Given the description of an element on the screen output the (x, y) to click on. 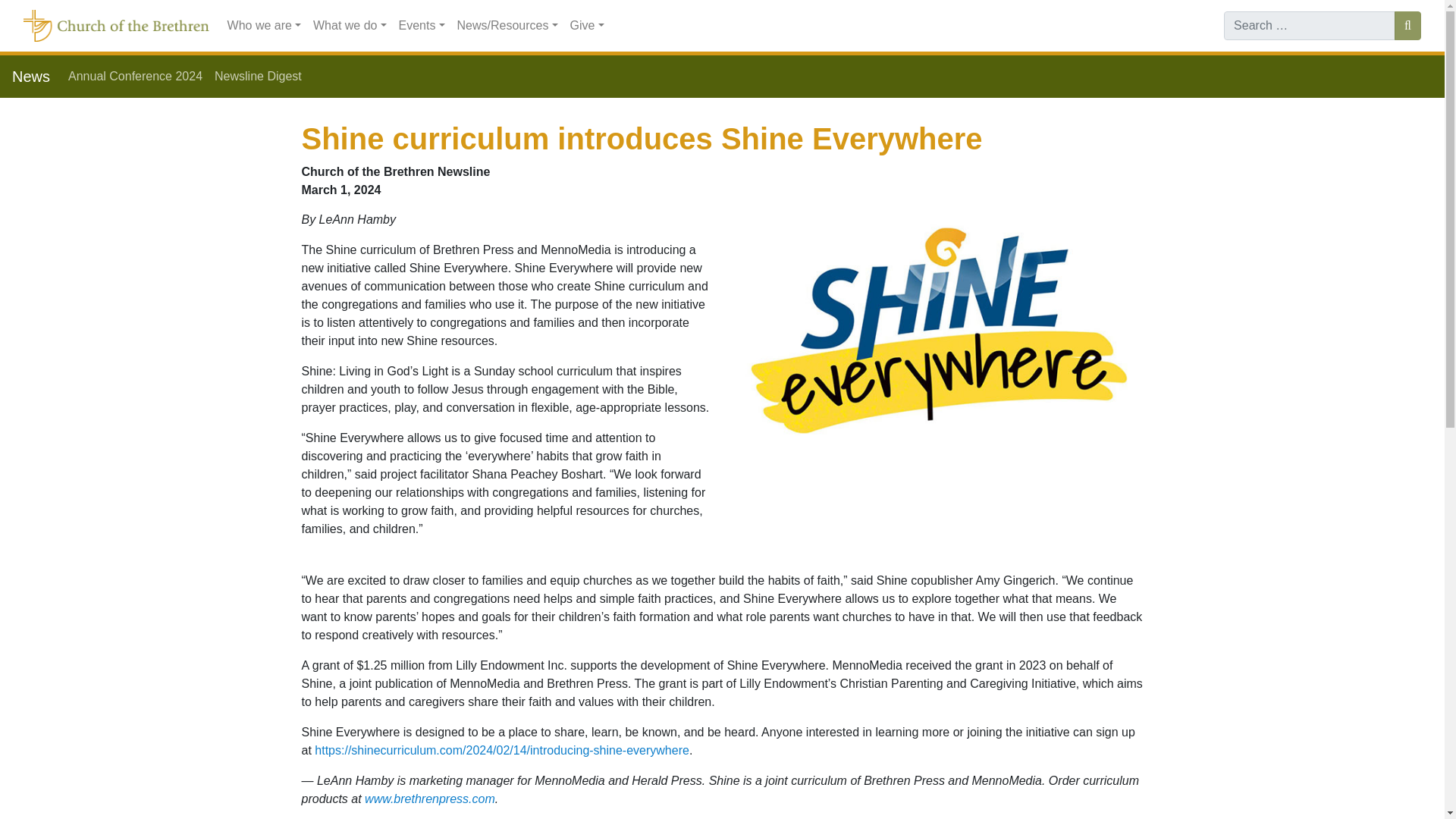
Events (422, 25)
Who we are (264, 25)
Who we are (264, 25)
What we do (350, 25)
What we do (350, 25)
